Given the description of an element on the screen output the (x, y) to click on. 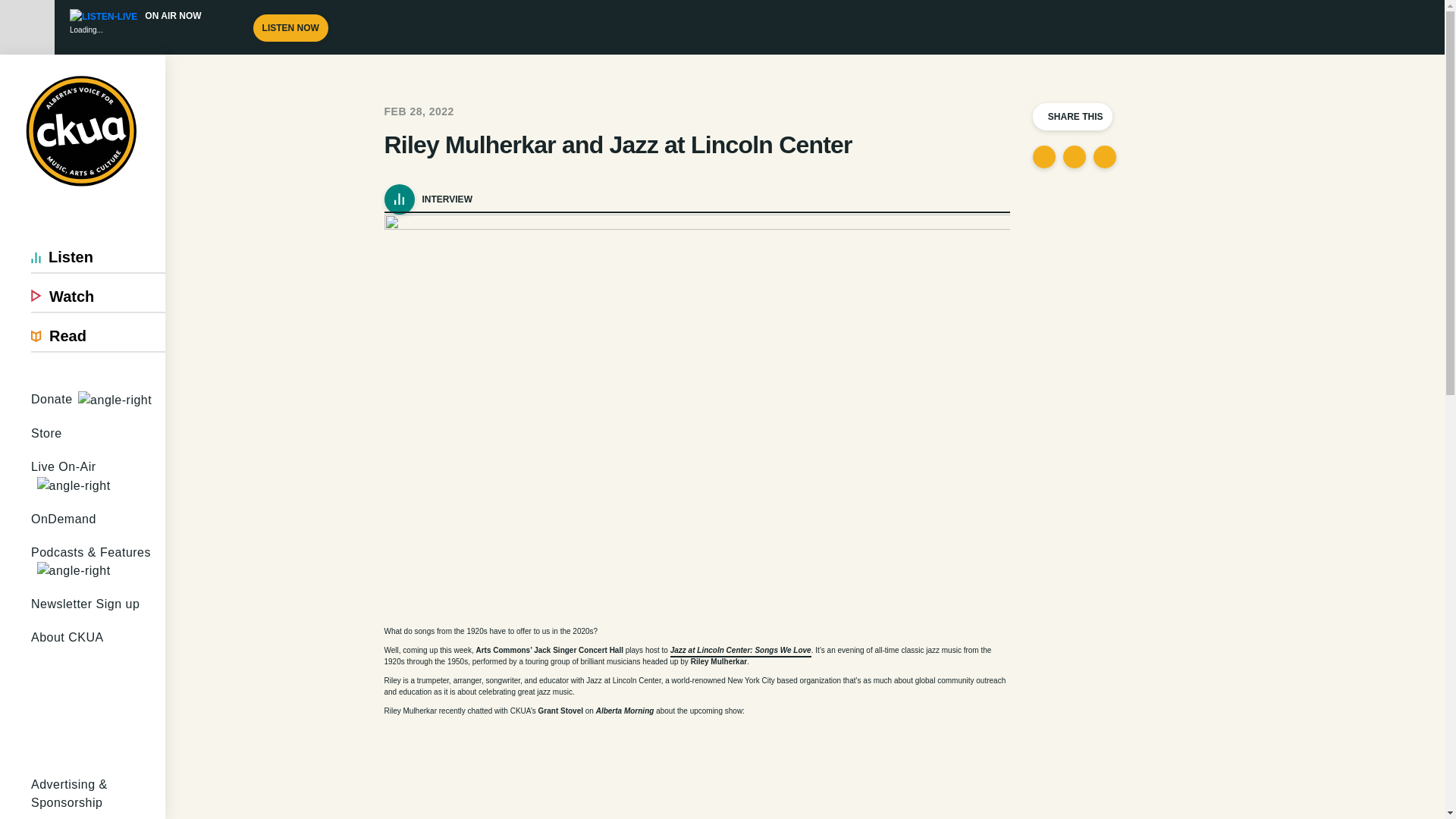
OnDemand (97, 519)
Listen (97, 256)
CKUA Home (82, 132)
Live On-Air (97, 476)
Watch (97, 296)
Read (97, 336)
Newsletter Sign up (97, 604)
Donate (97, 399)
Next Level (114, 400)
About CKUA (97, 694)
